Given the description of an element on the screen output the (x, y) to click on. 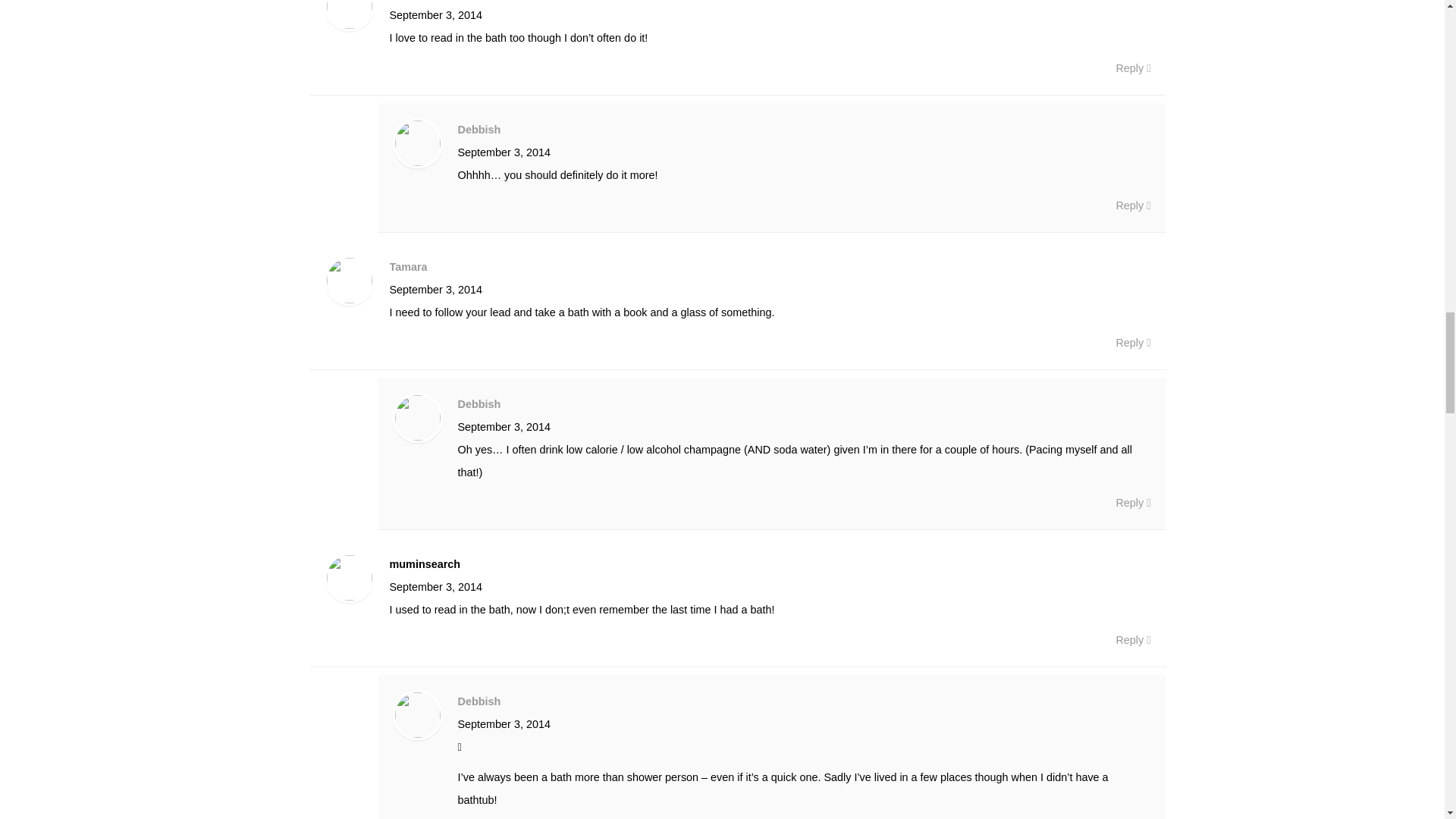
Reply (1132, 205)
Reply (1132, 342)
Reply (1132, 639)
Debbish (479, 129)
Debbish (479, 404)
Tamara (409, 266)
Debbish (479, 701)
Reply (1132, 67)
Reply (1132, 502)
